Given the description of an element on the screen output the (x, y) to click on. 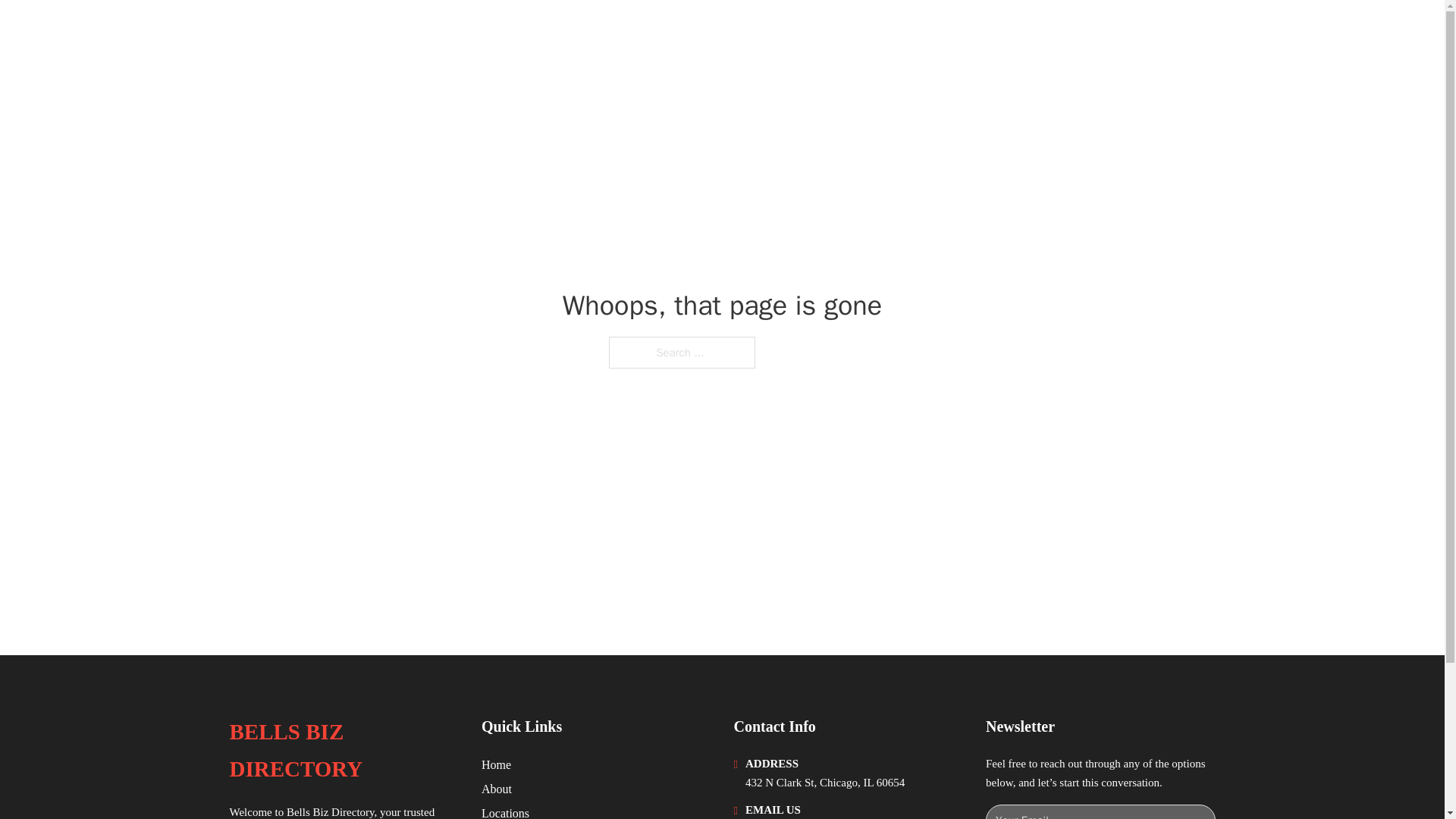
HOME (1025, 31)
BELLS BIZ DIRECTORY (368, 31)
BELLS BIZ DIRECTORY (343, 750)
Locations (505, 811)
Home (496, 764)
About (496, 788)
LOCATIONS (1098, 31)
